Given the description of an element on the screen output the (x, y) to click on. 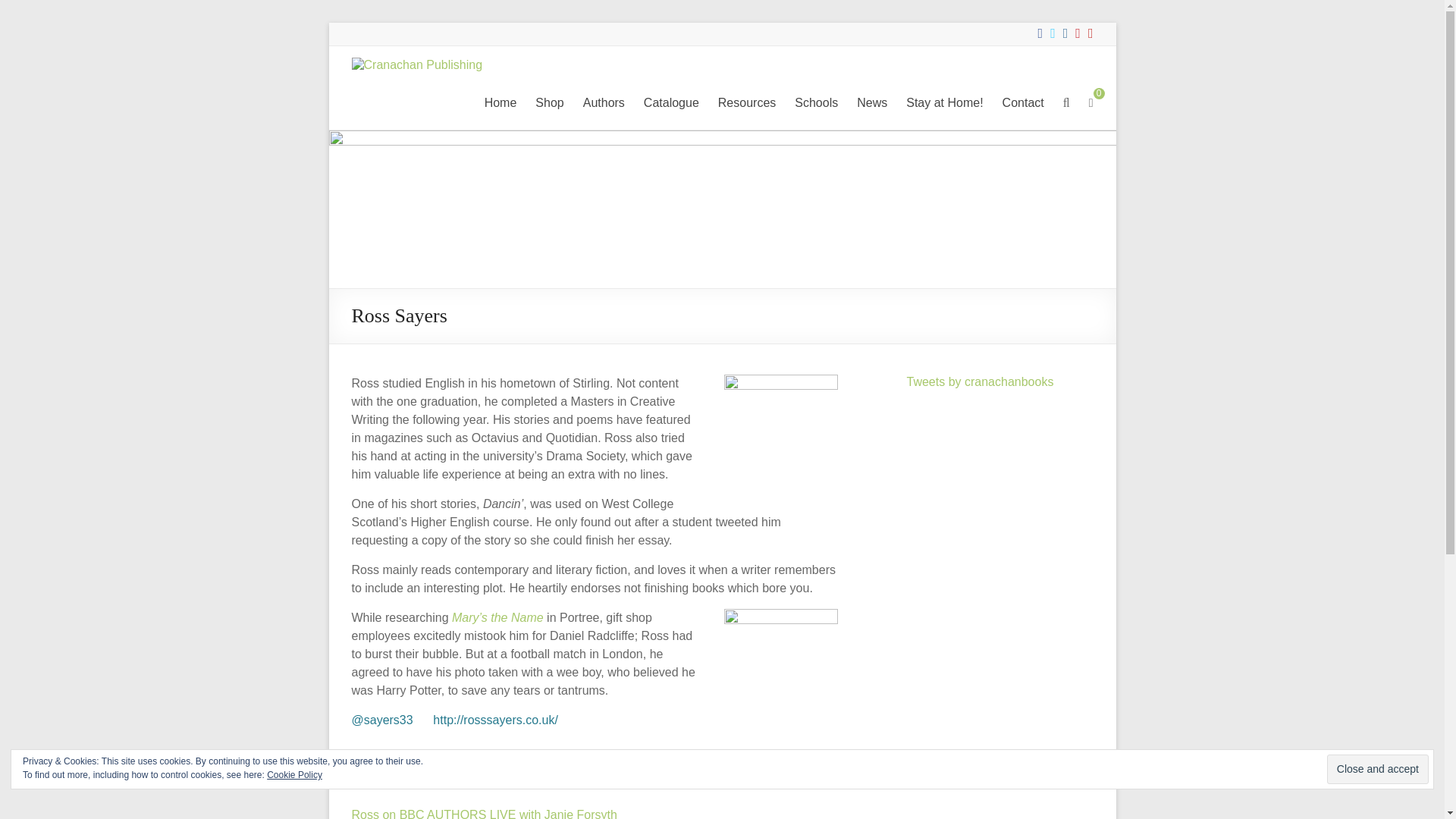
Cookie Policy (293, 774)
Ross on BBC AUTHORS LIVE with Janie Forsyth (484, 813)
Cranachan Publishing (408, 92)
Stay at Home! (943, 102)
News (871, 102)
Catalogue (670, 102)
Home (500, 102)
Shop (549, 102)
Cranachan Publishing (408, 92)
